Given the description of an element on the screen output the (x, y) to click on. 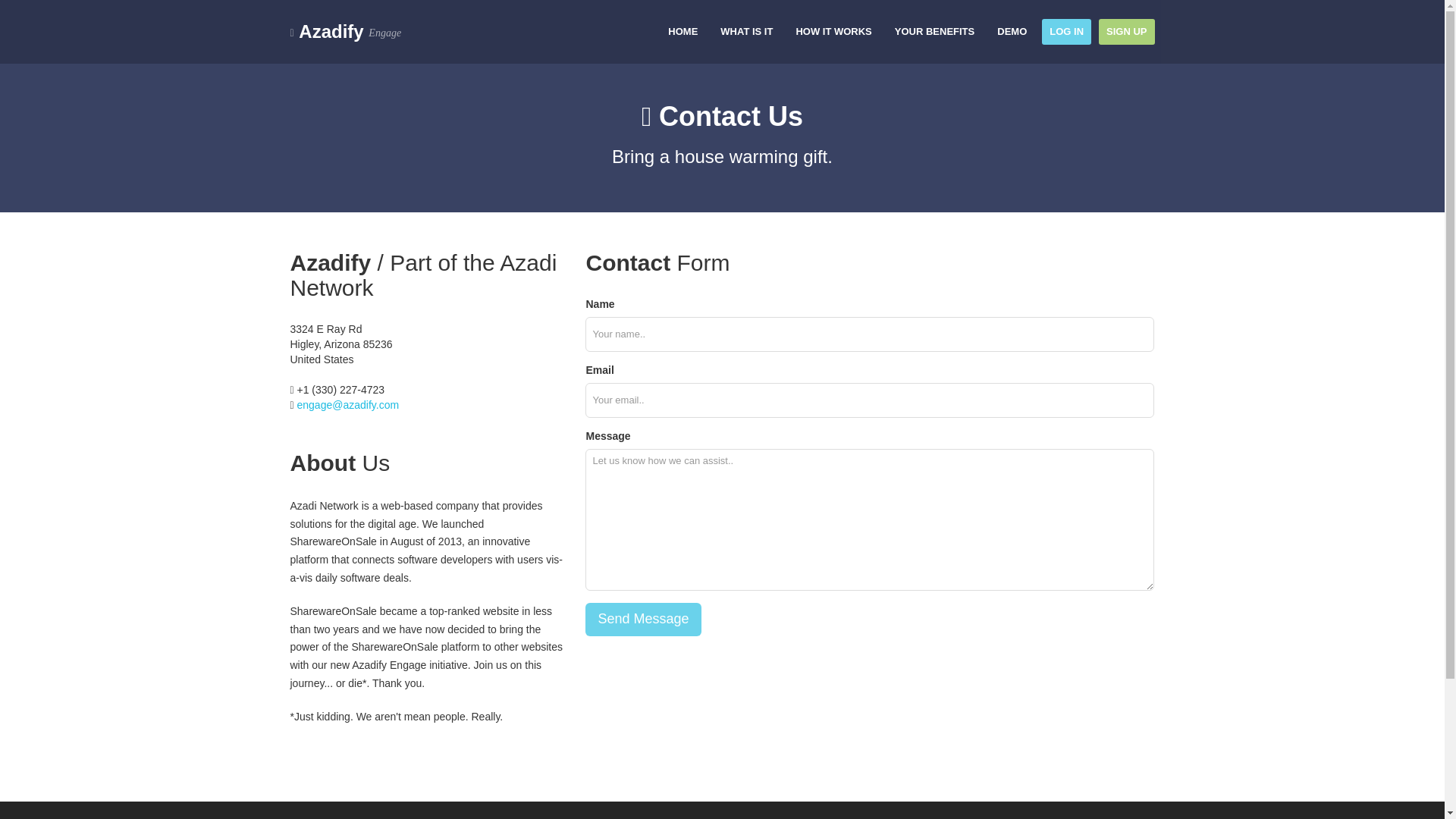
DEMO (1011, 31)
HOME (682, 31)
LOG IN (1066, 31)
YOUR BENEFITS (933, 31)
SIGN UP (1126, 31)
Send Message (642, 619)
HOW IT WORKS (833, 31)
Azadify Engage (345, 31)
WHAT IS IT (746, 31)
